Given the description of an element on the screen output the (x, y) to click on. 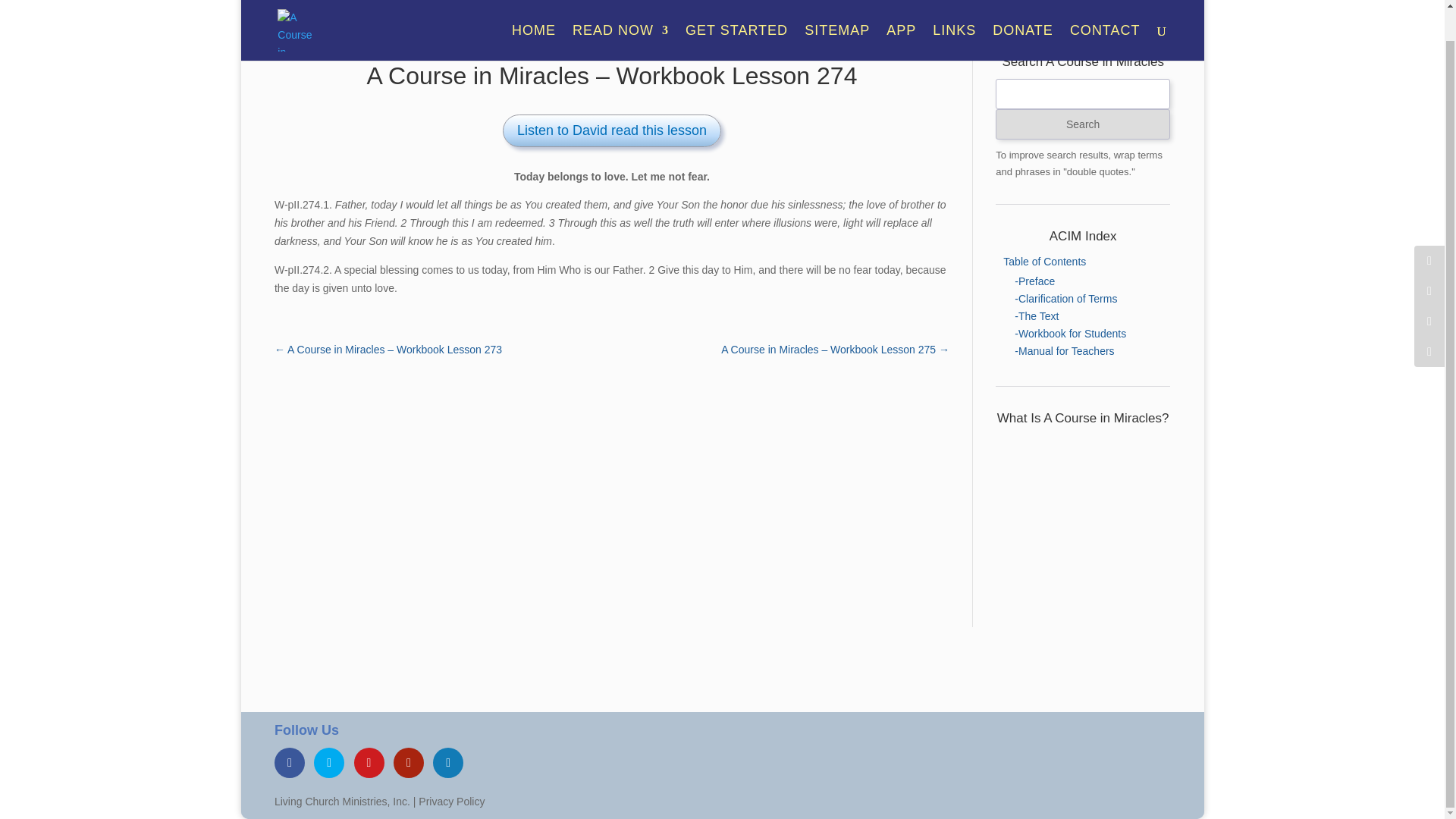
SITEMAP (837, 14)
Listen to David read this lesson (611, 129)
-Manual for Teachers (1063, 350)
HOME (534, 14)
GET STARTED (736, 14)
APP (900, 14)
DONATE (1022, 14)
-Preface (1034, 281)
LINKS (954, 14)
-Workbook for Students (1069, 333)
